Given the description of an element on the screen output the (x, y) to click on. 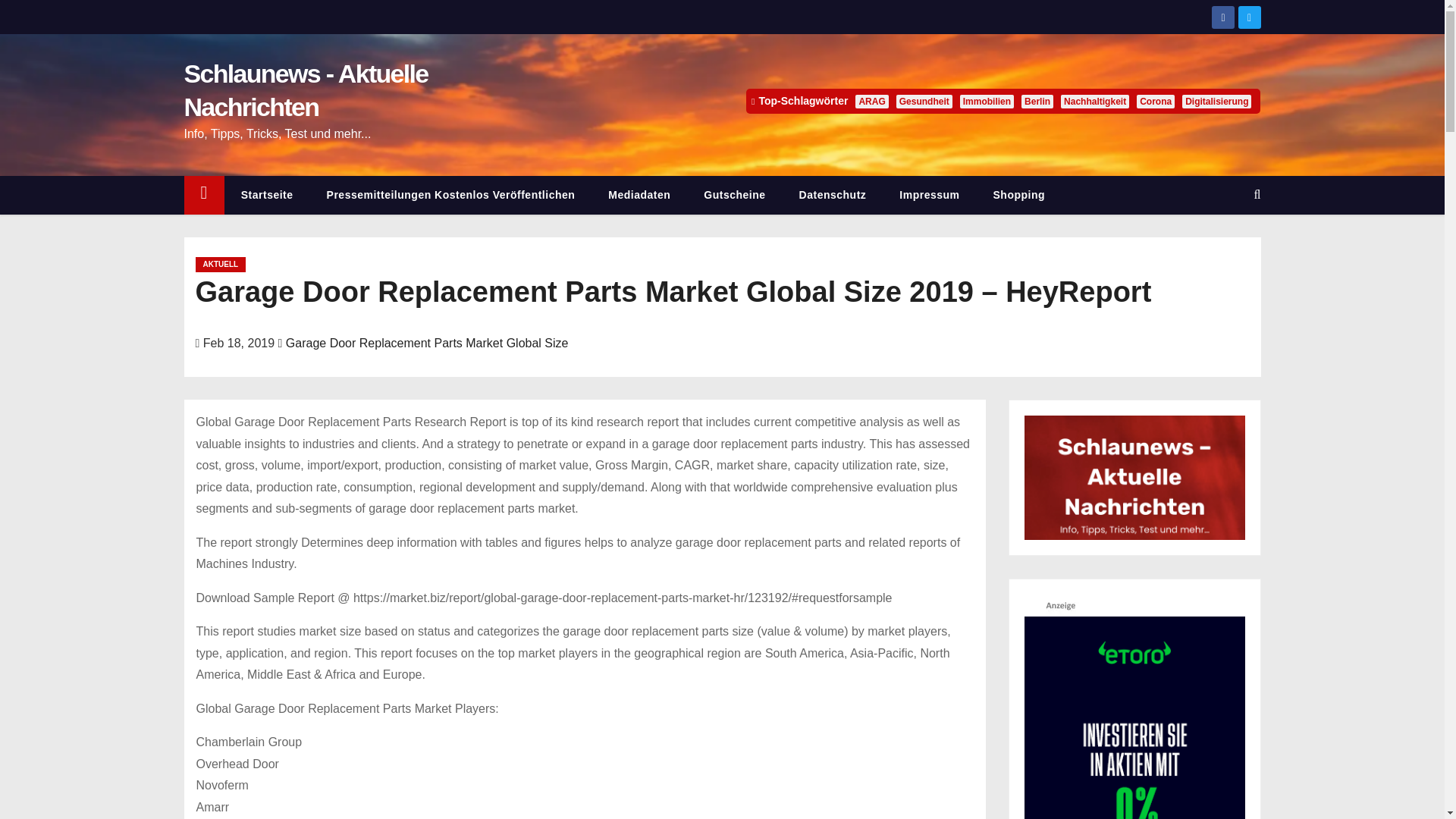
Shopping (1019, 195)
Shopping (1019, 195)
Datenschutz (833, 195)
Impressum (928, 195)
Corona (1155, 101)
Garage Door Replacement Parts Market Global Size (427, 342)
Startseite (267, 195)
Mediadaten (639, 195)
ARAG (872, 101)
Gutscheine (734, 195)
